Given the description of an element on the screen output the (x, y) to click on. 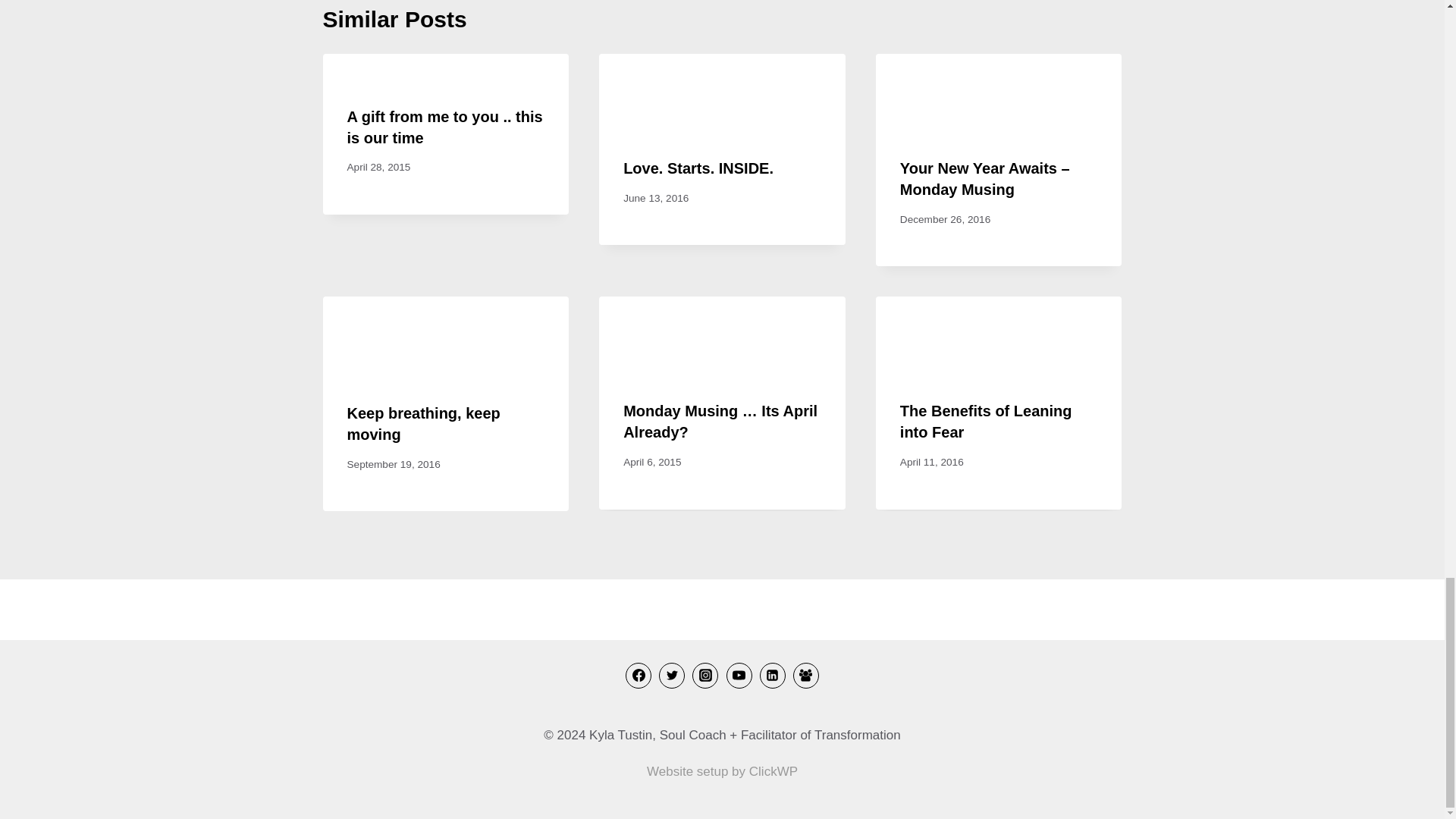
A gift from me to you .. this is our time (445, 127)
